Given the description of an element on the screen output the (x, y) to click on. 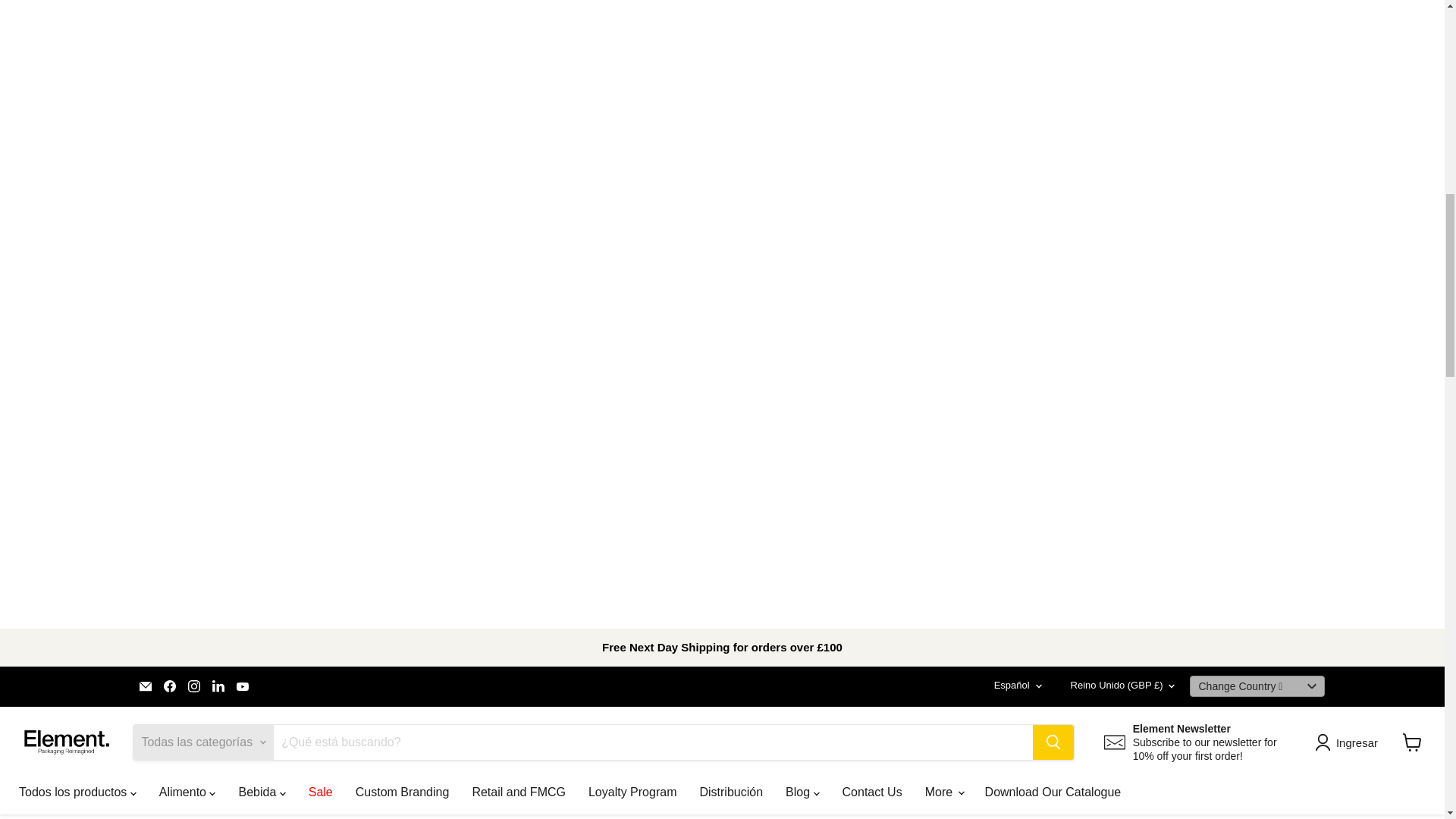
YouTube (242, 685)
LinkedIn (218, 685)
Facebook (169, 685)
Instagram (194, 685)
